Given the description of an element on the screen output the (x, y) to click on. 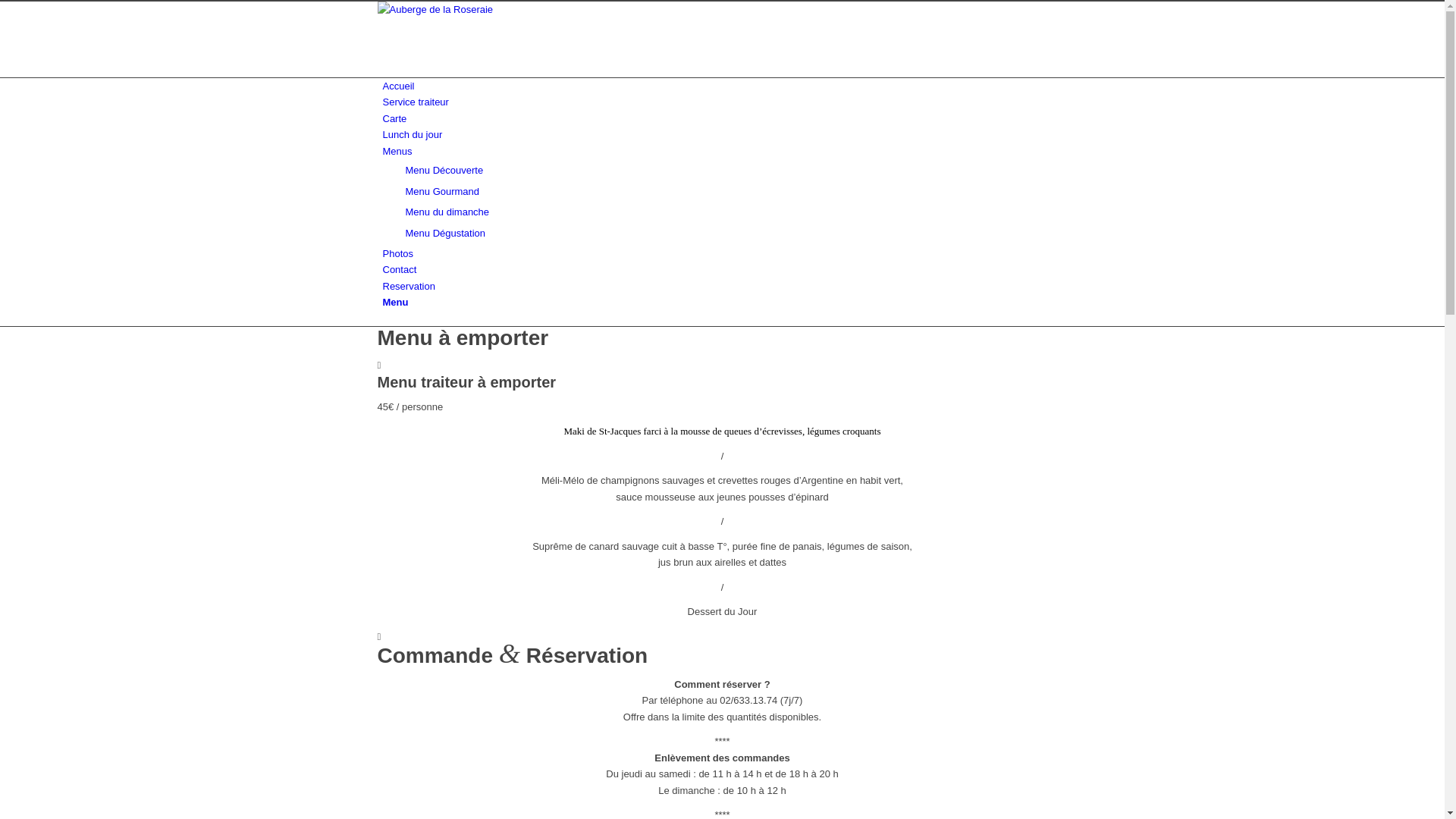
Menu du dimanche Element type: text (446, 211)
Reservation Element type: text (408, 285)
Contact Element type: text (399, 269)
Lunch du jour Element type: text (412, 134)
Menu Element type: text (394, 301)
aubergeroseraie_logo Element type: hover (491, 39)
Carte Element type: text (394, 118)
aubergeroseraie_logo Element type: hover (491, 9)
Menus Element type: text (396, 150)
Photos Element type: text (397, 253)
Service traiteur Element type: text (415, 101)
Accueil Element type: text (398, 85)
Menu Gourmand Element type: text (441, 191)
